Given the description of an element on the screen output the (x, y) to click on. 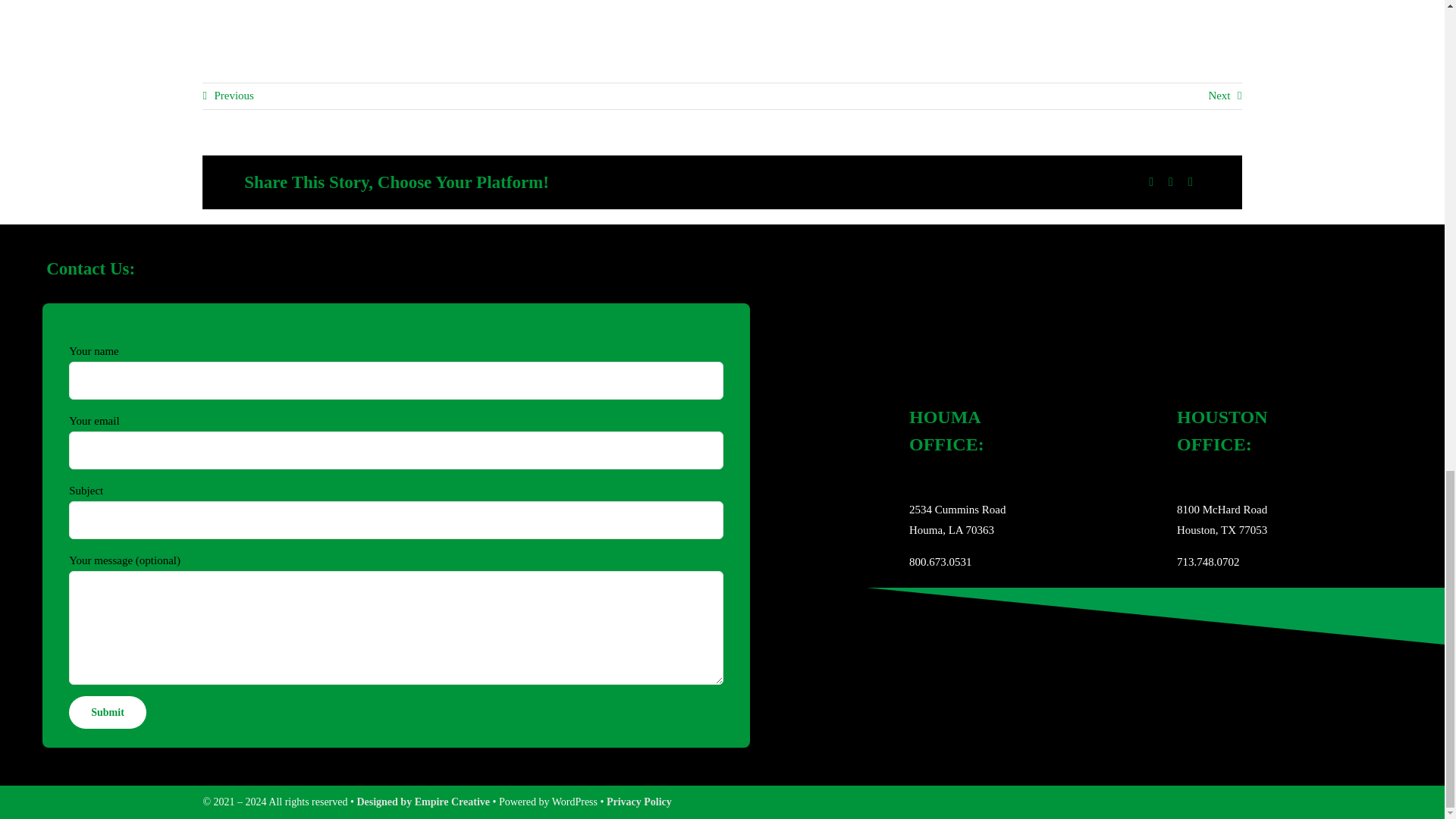
Submit (107, 712)
Designed by Empire Creative (422, 801)
Submit (107, 712)
LinkedIn (1170, 182)
713.748.0702 (1208, 562)
Privacy Policy (639, 801)
Next (1224, 95)
EASA-AccreditionPromo3 (975, 682)
Facebook (1150, 182)
800.673.0531 (940, 562)
